Given the description of an element on the screen output the (x, y) to click on. 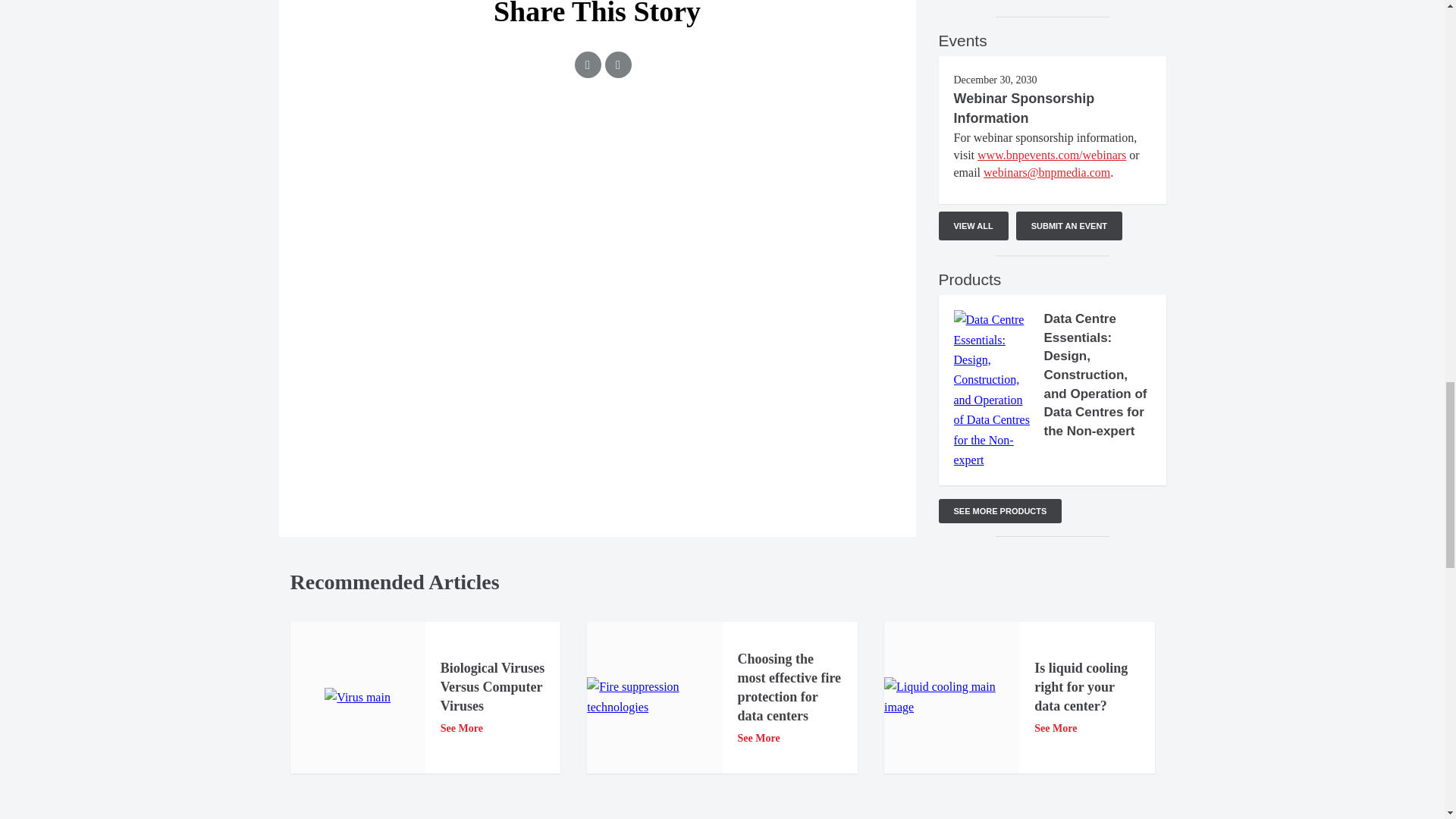
Virus main (357, 697)
Liquid cooling main image (951, 697)
Webinar Sponsorship Information (1023, 108)
Fire suppression technologies (654, 697)
